Given the description of an element on the screen output the (x, y) to click on. 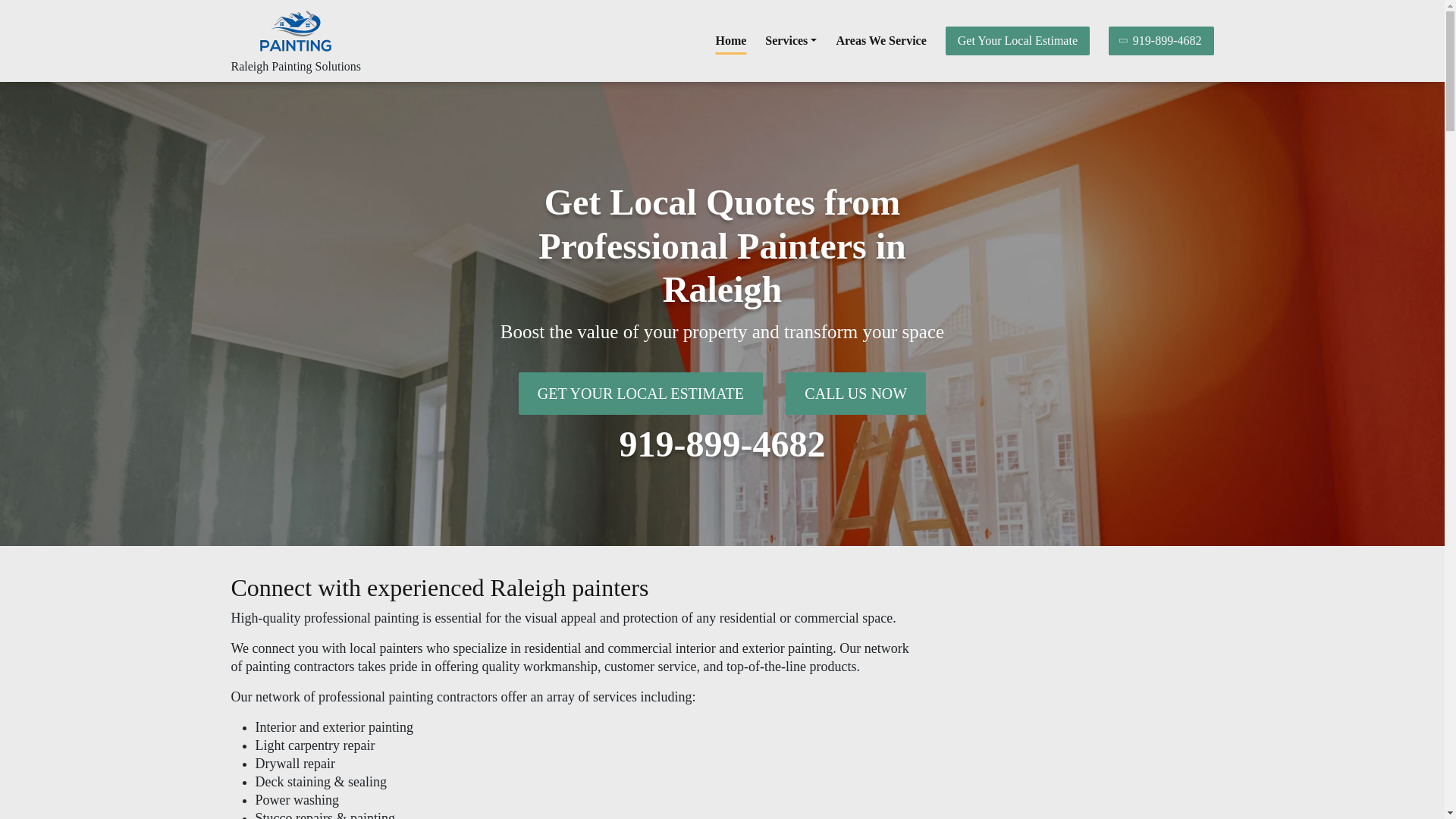
Get Your Local Estimate (1016, 40)
919-899-4682 (722, 444)
Services (790, 40)
Home (729, 40)
Areas We Service (880, 40)
Areas We Service (880, 40)
Services (790, 40)
GET YOUR LOCAL ESTIMATE (640, 393)
Home (729, 40)
CALL US NOW (856, 393)
Raleigh Painting Solutions (295, 65)
919-899-4682 (1161, 40)
